Given the description of an element on the screen output the (x, y) to click on. 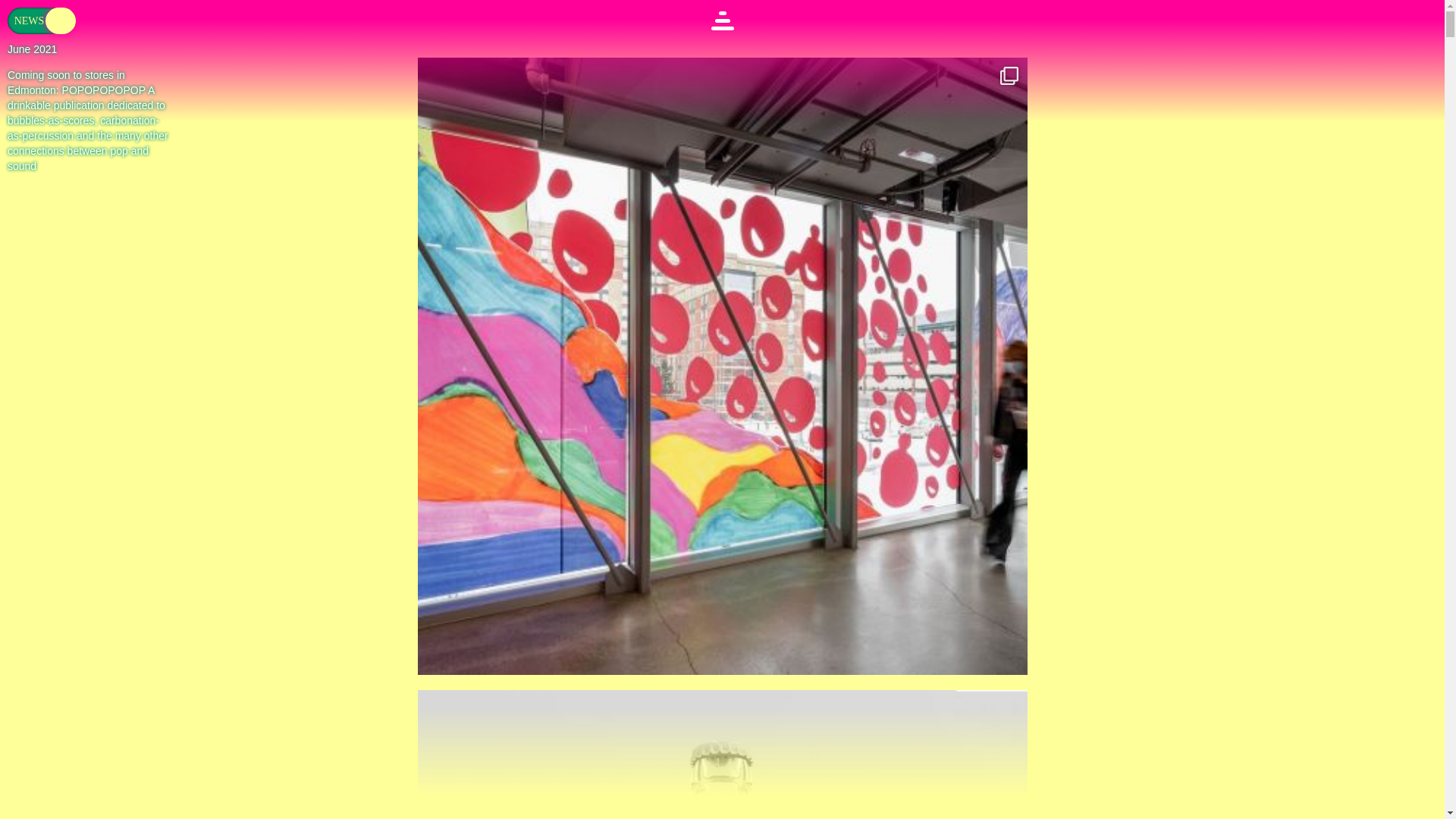
June 2021 Element type: text (31, 49)
